Given the description of an element on the screen output the (x, y) to click on. 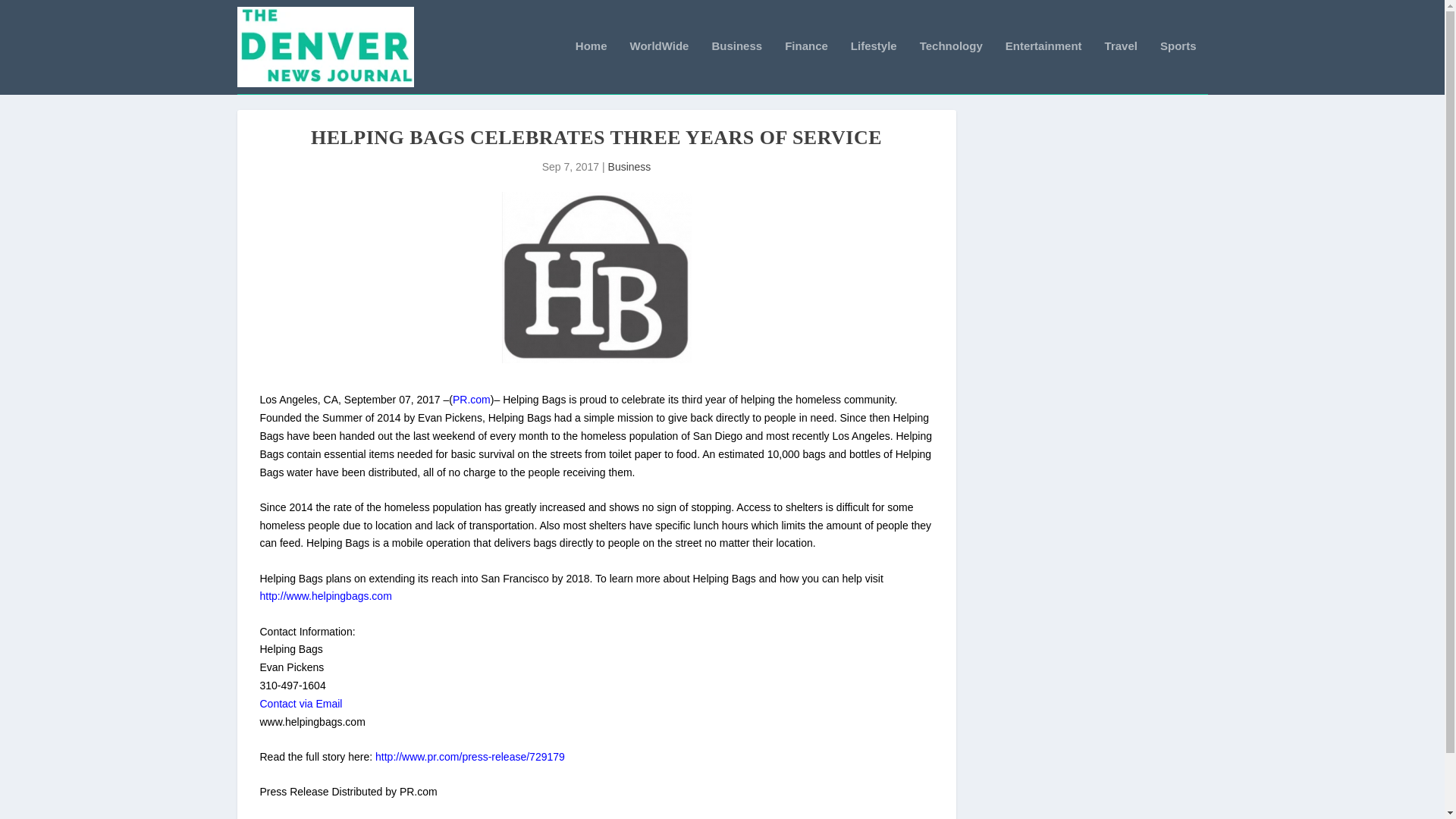
Business (736, 67)
Contact via Email (300, 703)
Technology (951, 67)
PR.com (471, 399)
WorldWide (659, 67)
Entertainment (1043, 67)
Business (629, 166)
